Given the description of an element on the screen output the (x, y) to click on. 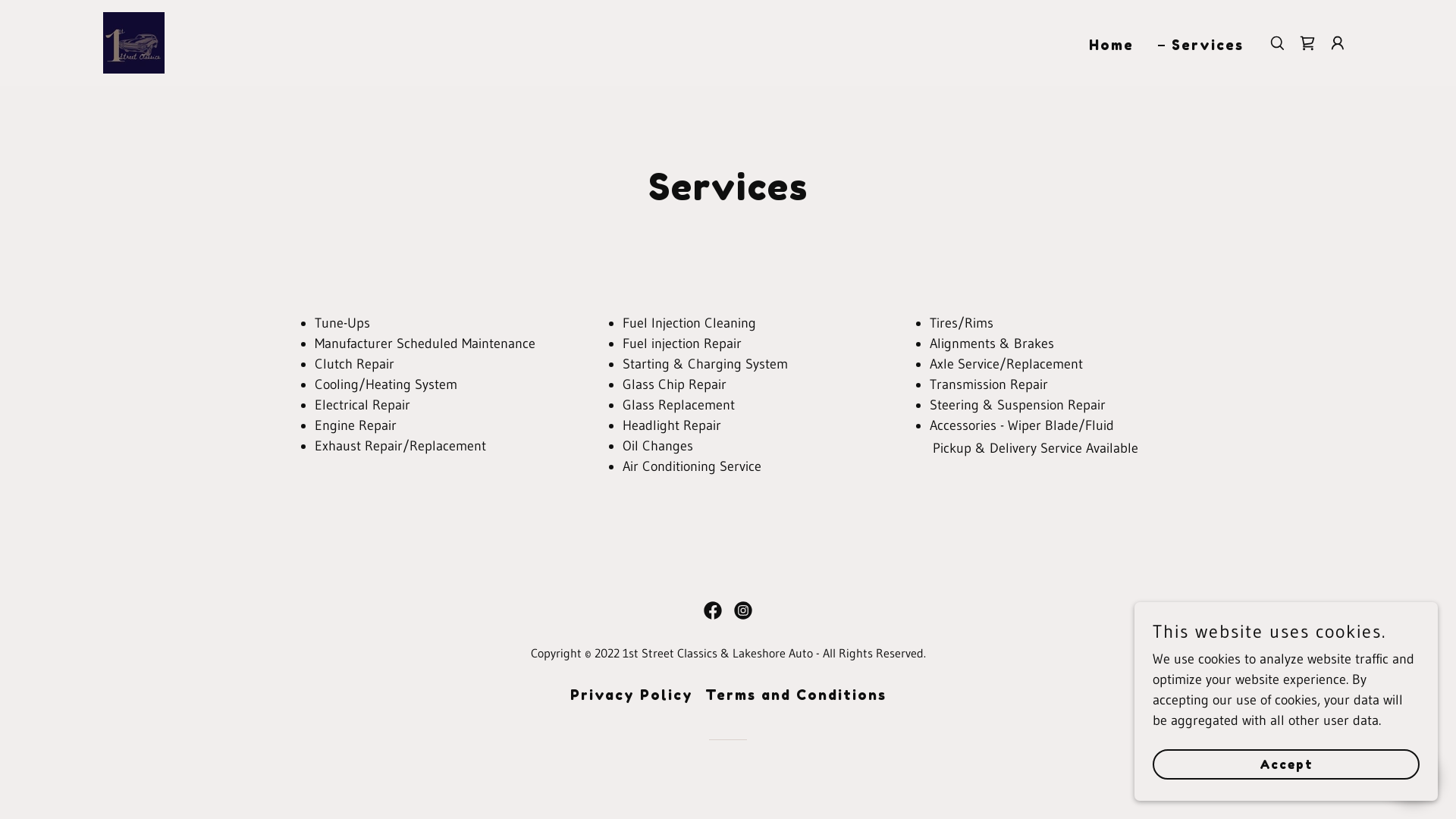
Privacy Policy Element type: text (631, 694)
Accept Element type: text (1285, 764)
Terms and Conditions Element type: text (795, 694)
Home Element type: text (1104, 44)
Services Element type: text (1200, 44)
